Given the description of an element on the screen output the (x, y) to click on. 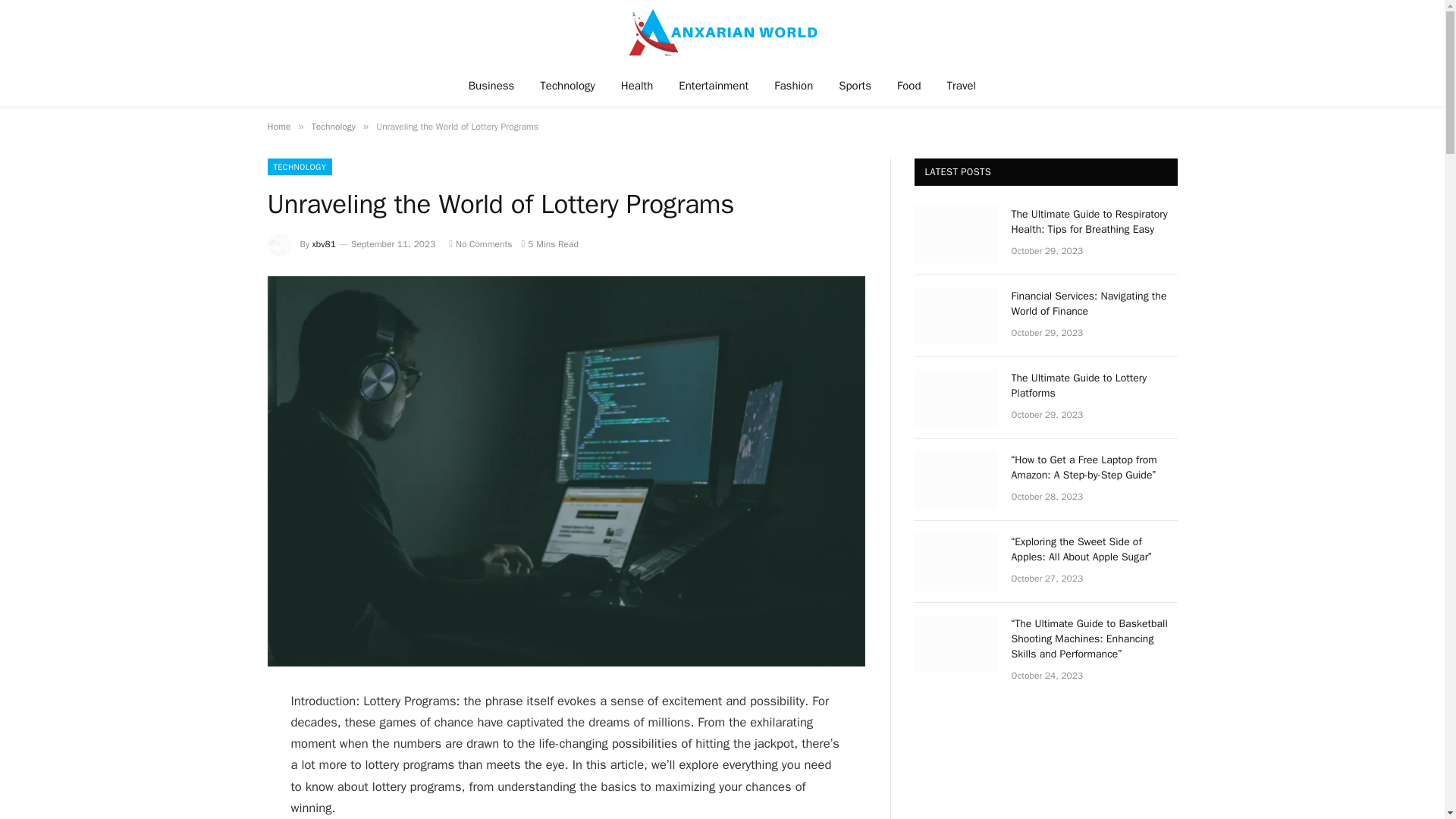
Technology (333, 126)
Travel (962, 85)
Entertainment (713, 85)
Technology (567, 85)
Sports (854, 85)
Health (637, 85)
Posts by xbv81 (324, 244)
Fashion (793, 85)
